Given the description of an element on the screen output the (x, y) to click on. 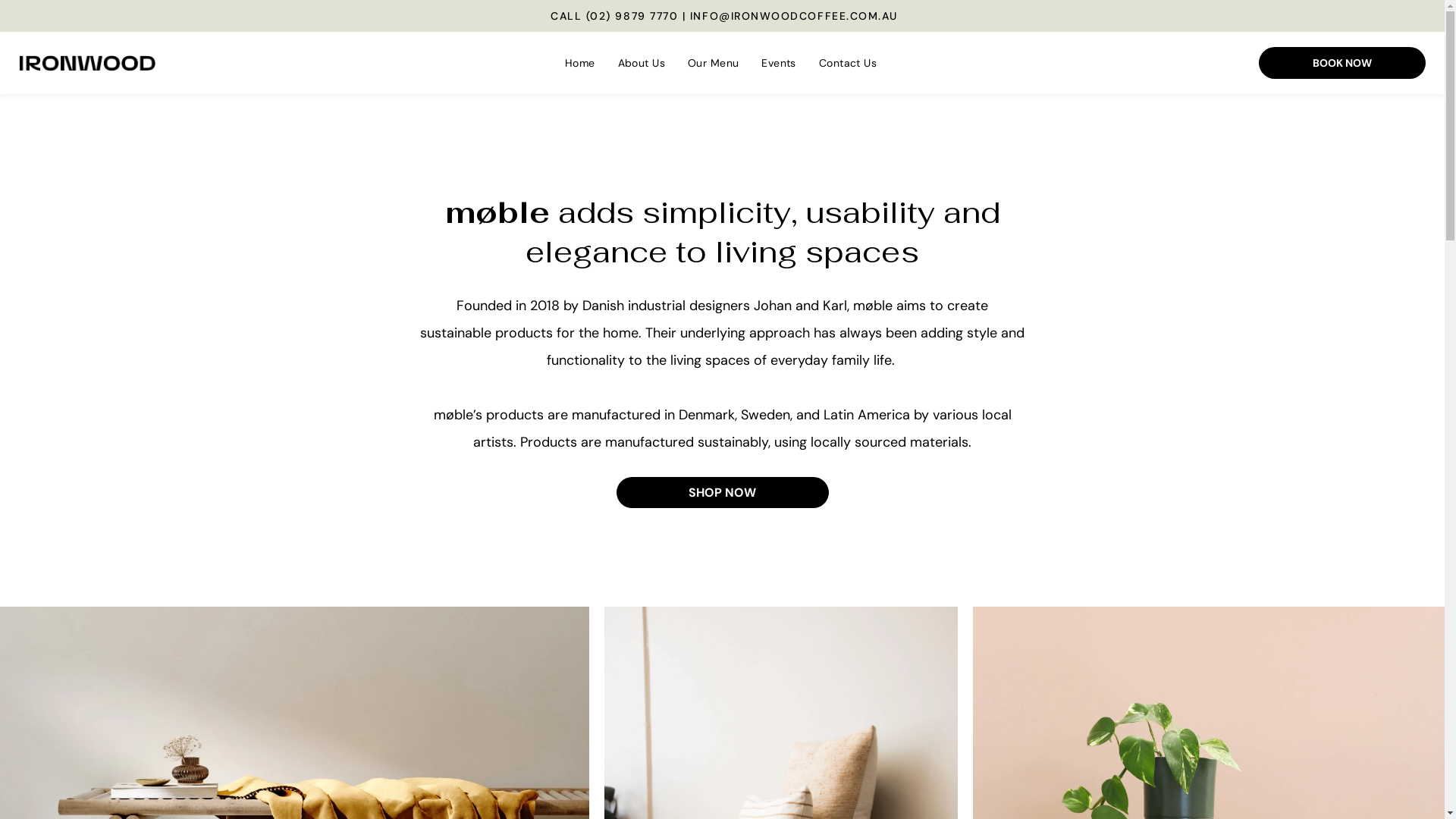
Home Element type: text (579, 62)
SHOP NOW Element type: text (721, 492)
INFO@IRONWOODCOFFEE.COM.AU Element type: text (793, 15)
Our Menu Element type: text (712, 62)
Events Element type: text (778, 62)
Contact Us Element type: text (847, 62)
(02) 9879 7770 Element type: text (632, 15)
About Us Element type: text (641, 62)
BOOK NOW Element type: text (1341, 62)
